Given the description of an element on the screen output the (x, y) to click on. 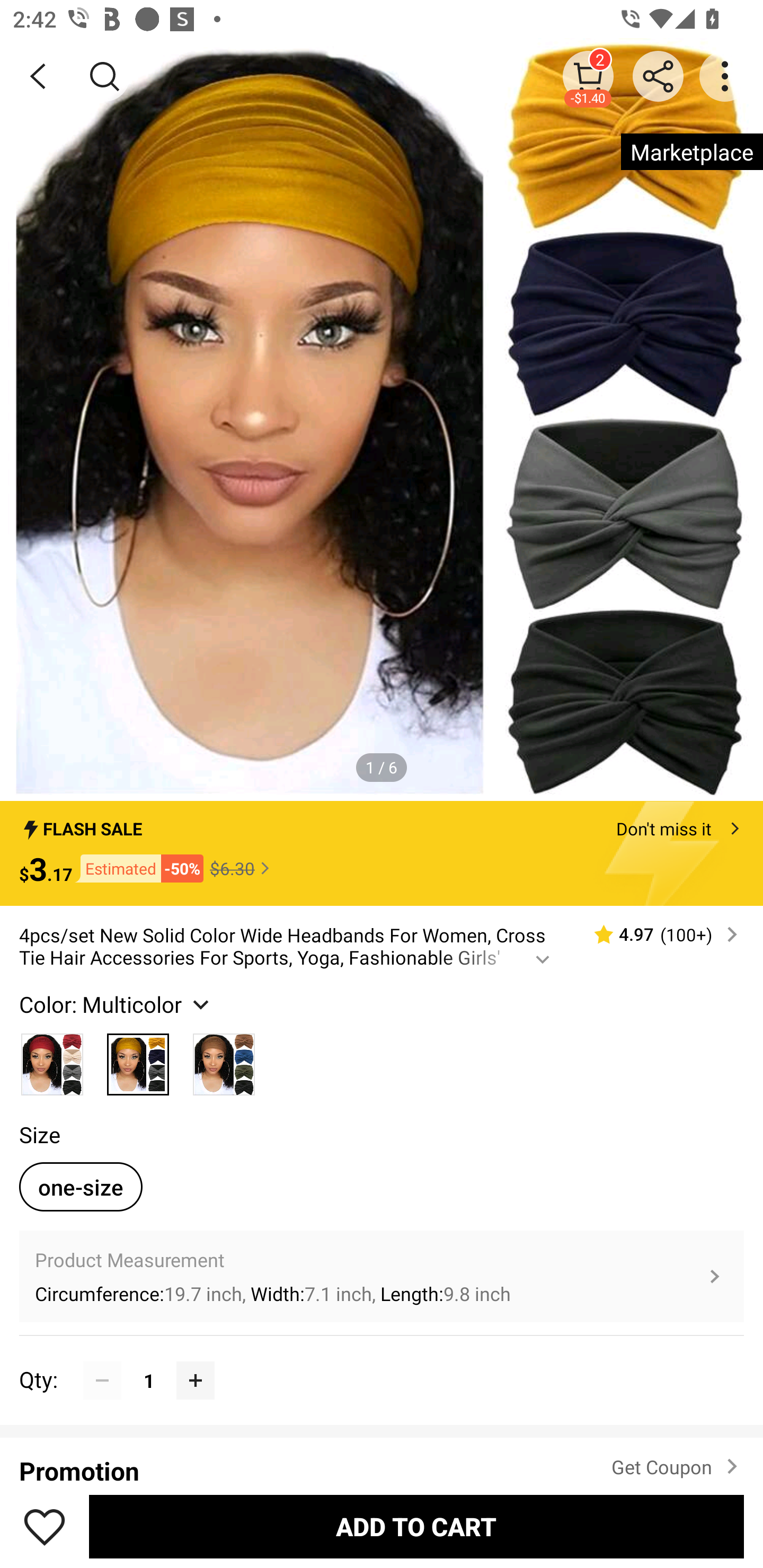
PHOTOS Marketplace 1 / 6 (381, 419)
BACK (38, 75)
2 -$1.40 (588, 75)
1 / 6 (381, 766)
FLASH SALE Don't miss it (381, 823)
Estimated -50% (137, 868)
$6.30 (241, 867)
4.97 (100‎+) (658, 934)
Color: Multicolor (116, 1004)
Multicolor (52, 1059)
Multicolor (138, 1059)
Multicolor (224, 1059)
Size (39, 1134)
one-size one-sizeselected option (80, 1186)
Qty: 1 (381, 1360)
Promotion Get Coupon (381, 1460)
ADD TO CART (416, 1526)
Save (44, 1526)
